Given the description of an element on the screen output the (x, y) to click on. 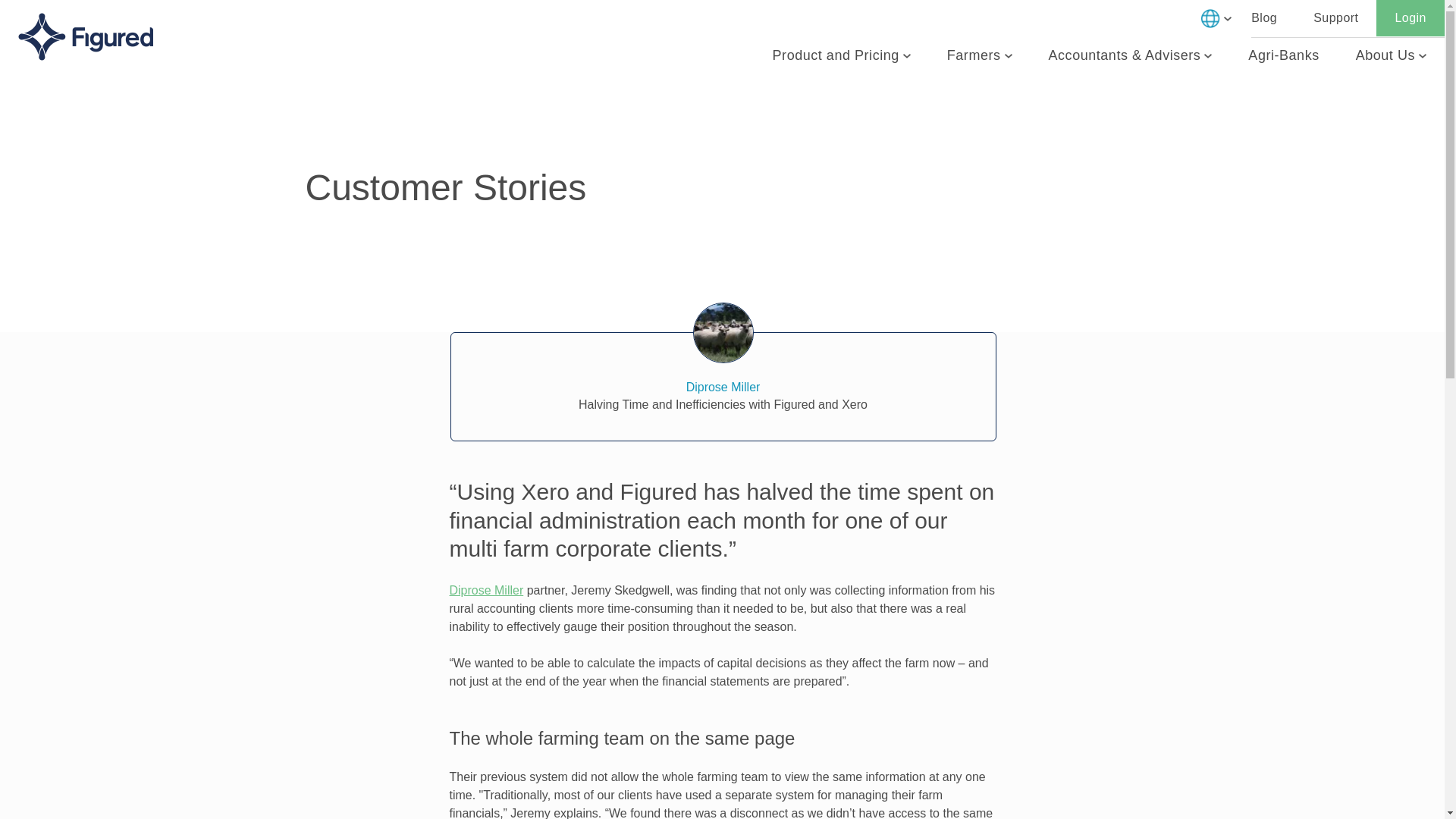
Product and Pricing (842, 55)
Support (1335, 18)
Farmers (979, 55)
